Given the description of an element on the screen output the (x, y) to click on. 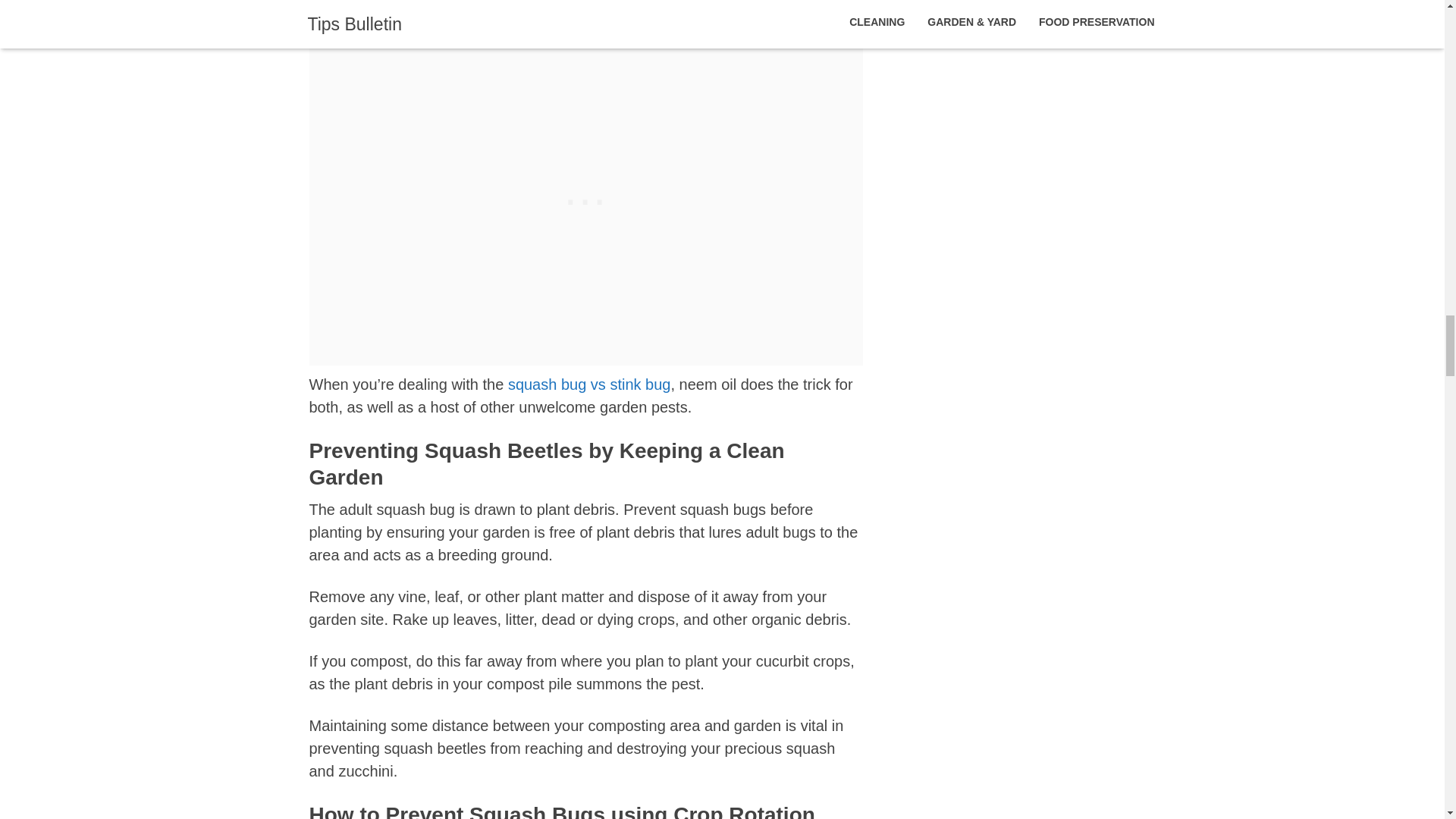
squash bug vs stink bug (589, 384)
